Given the description of an element on the screen output the (x, y) to click on. 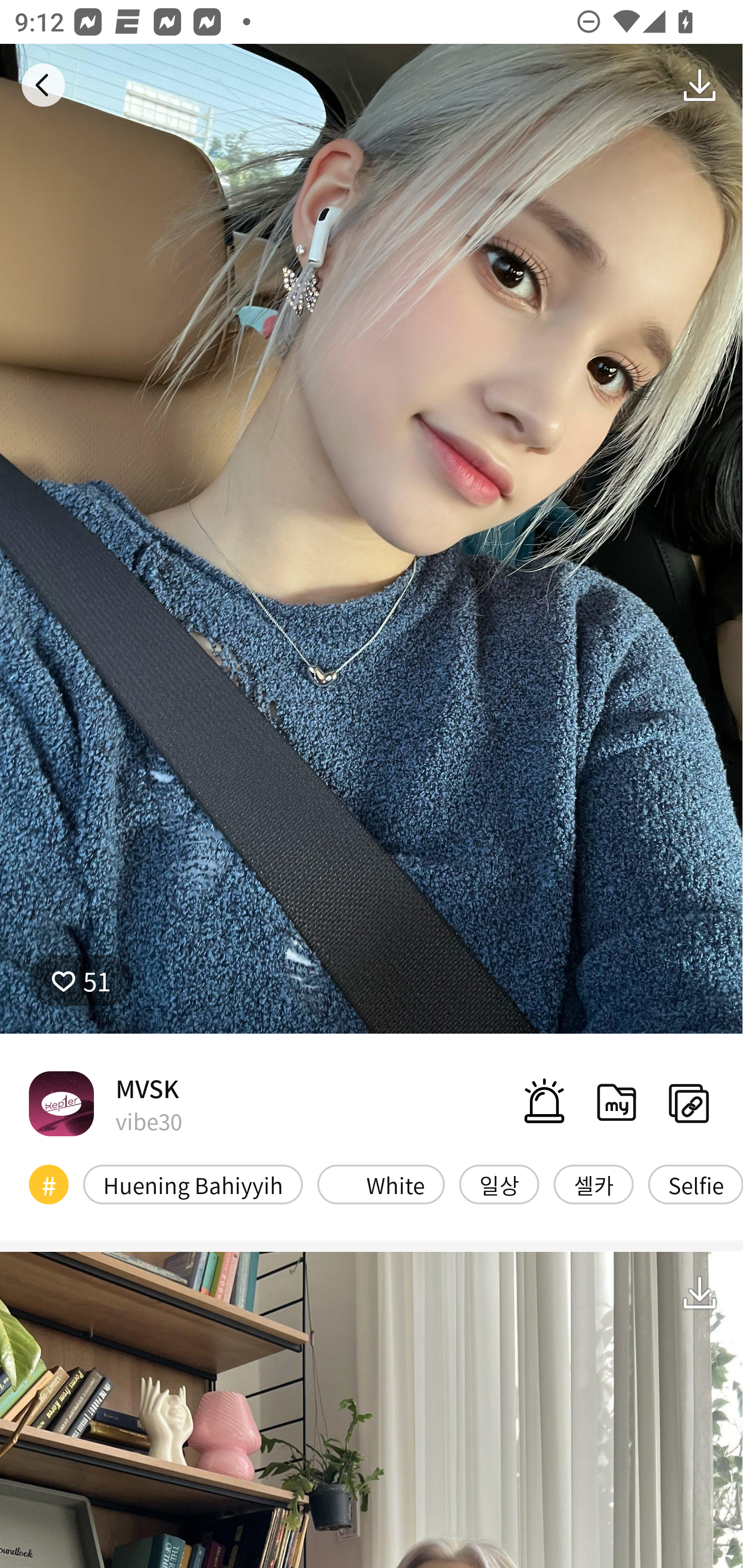
51 (80, 980)
MVSK vibe30 (105, 1102)
Huening Bahiyyih (193, 1184)
White (381, 1184)
일상 (499, 1184)
셀카 (593, 1184)
Selfie (695, 1184)
